Given the description of an element on the screen output the (x, y) to click on. 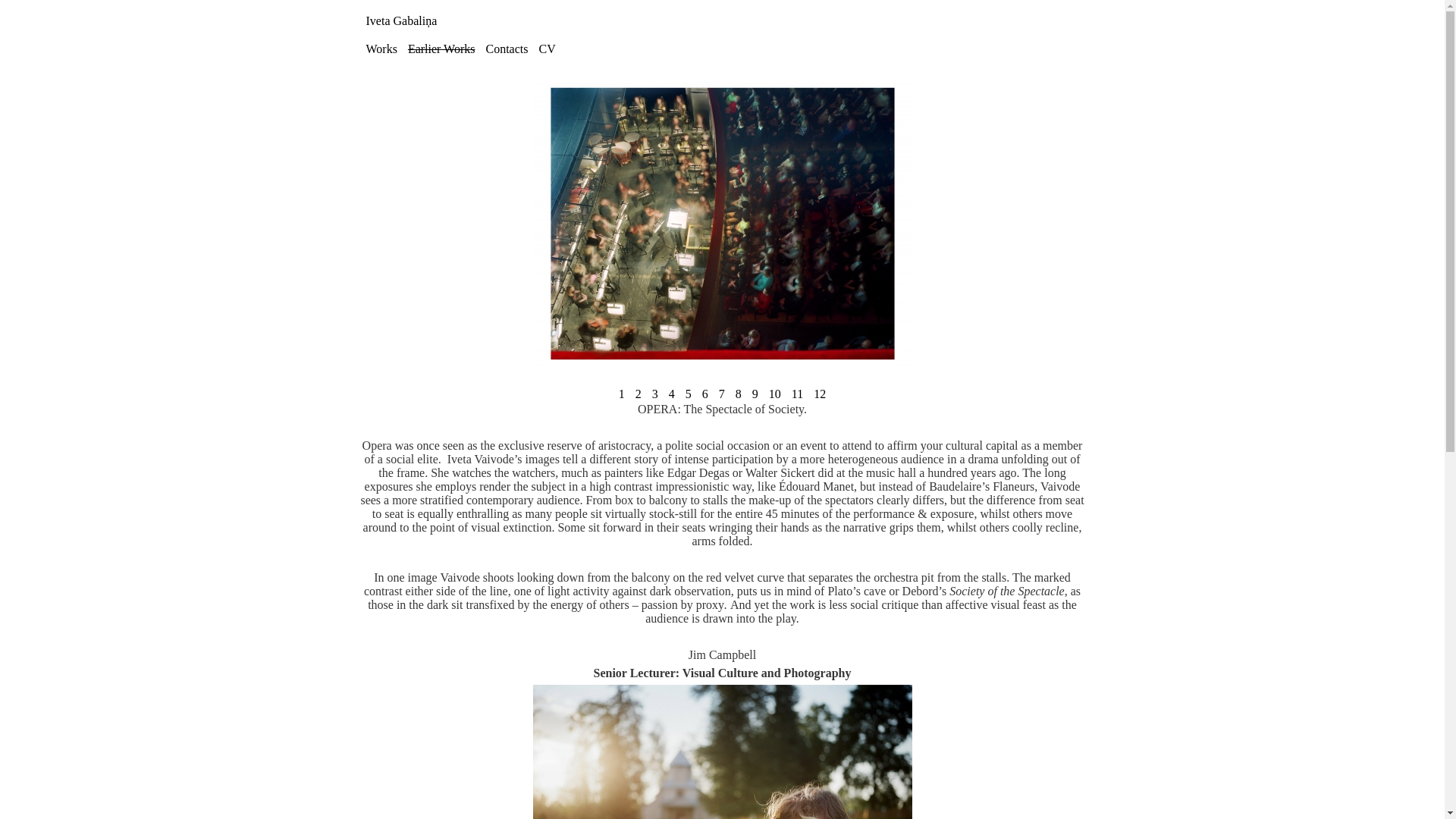
Works (380, 49)
7 (721, 393)
4 (671, 393)
CV (546, 49)
9 (754, 393)
10 (774, 393)
11 (796, 393)
5 (688, 393)
Earlier Works (441, 49)
2 (638, 393)
8 (738, 393)
1 (621, 393)
6 (704, 393)
3 (654, 393)
12 (819, 393)
